Given the description of an element on the screen output the (x, y) to click on. 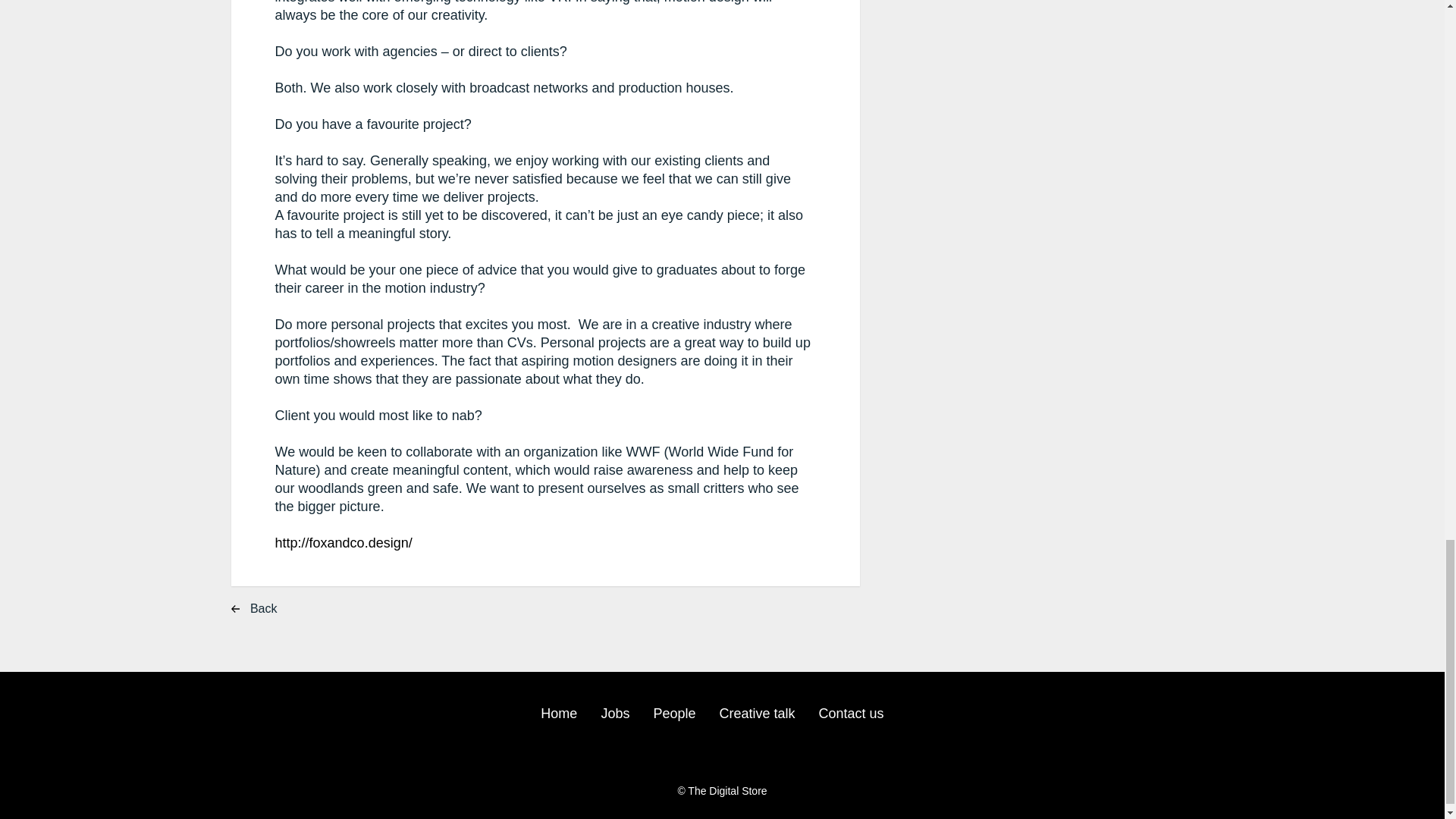
Contact us (850, 714)
People (673, 714)
Jobs (613, 714)
Creative talk (756, 714)
Back (268, 609)
Home (558, 714)
